Given the description of an element on the screen output the (x, y) to click on. 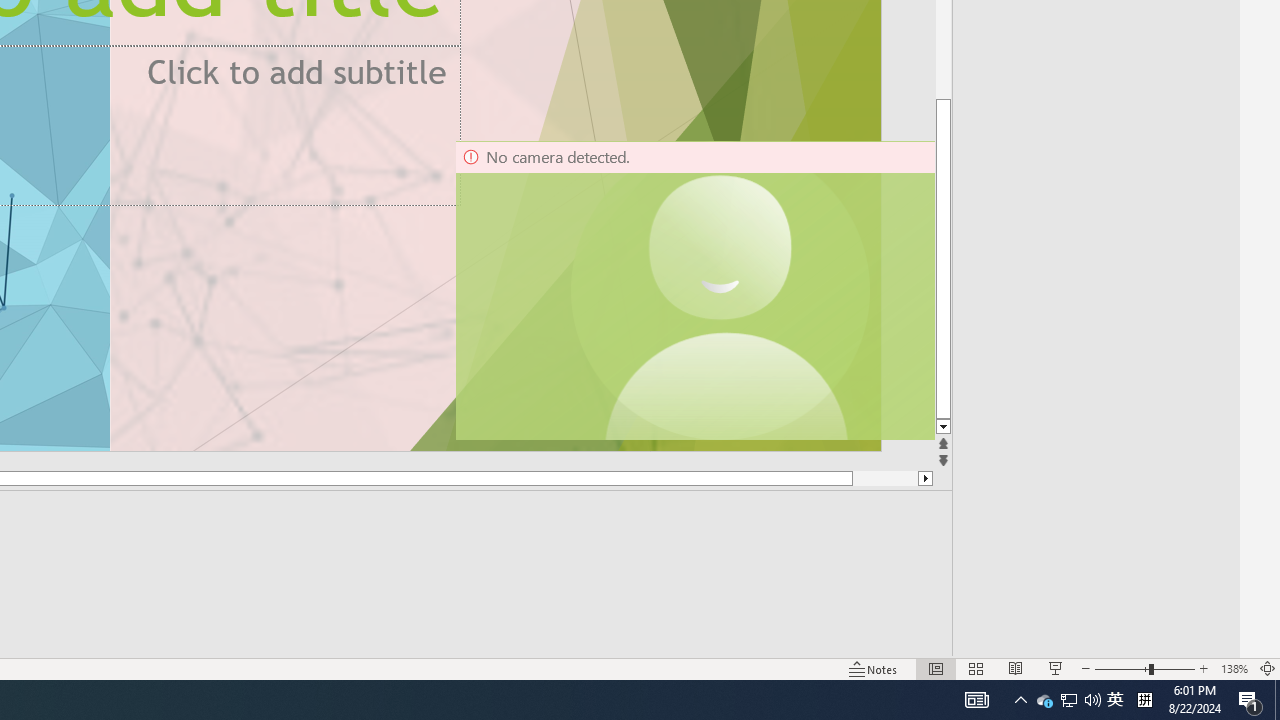
Camera 14, No camera detected. (694, 290)
Camera 11, No camera detected. (720, 290)
Zoom 138% (1234, 668)
